Given the description of an element on the screen output the (x, y) to click on. 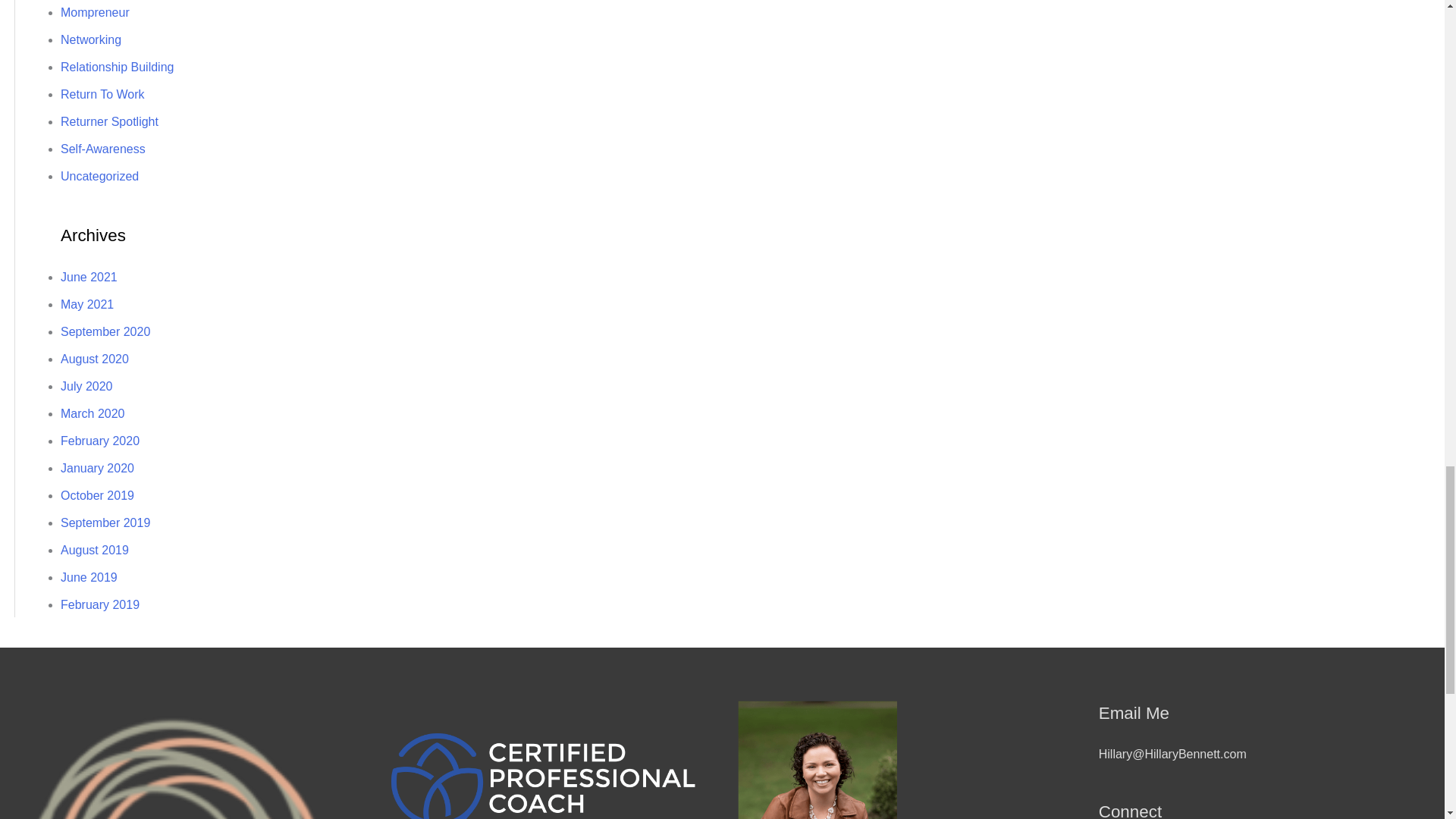
Return To Work (102, 93)
Relationship Building (117, 66)
May 2021 (87, 304)
June 2021 (89, 277)
August 2020 (95, 358)
September 2020 (105, 331)
Self-Awareness (103, 148)
March 2020 (93, 413)
Networking (90, 39)
Mompreneur (95, 11)
Returner Spotlight (109, 121)
July 2020 (87, 386)
Uncategorized (99, 175)
